Given the description of an element on the screen output the (x, y) to click on. 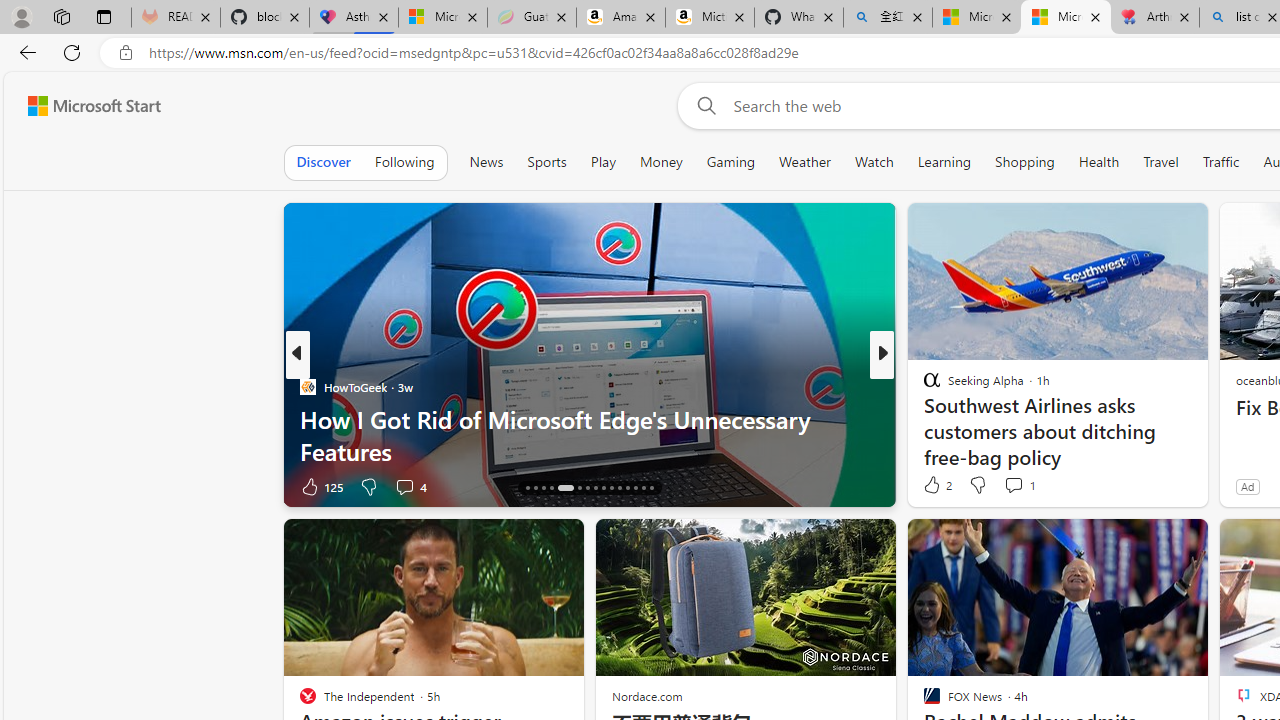
HowToGeek (307, 386)
View comments 9 Comment (1019, 486)
View comments 25 Comment (1014, 485)
Hide this story (1147, 542)
Business Insider (923, 386)
AutomationID: tab-21 (578, 487)
